Given the description of an element on the screen output the (x, y) to click on. 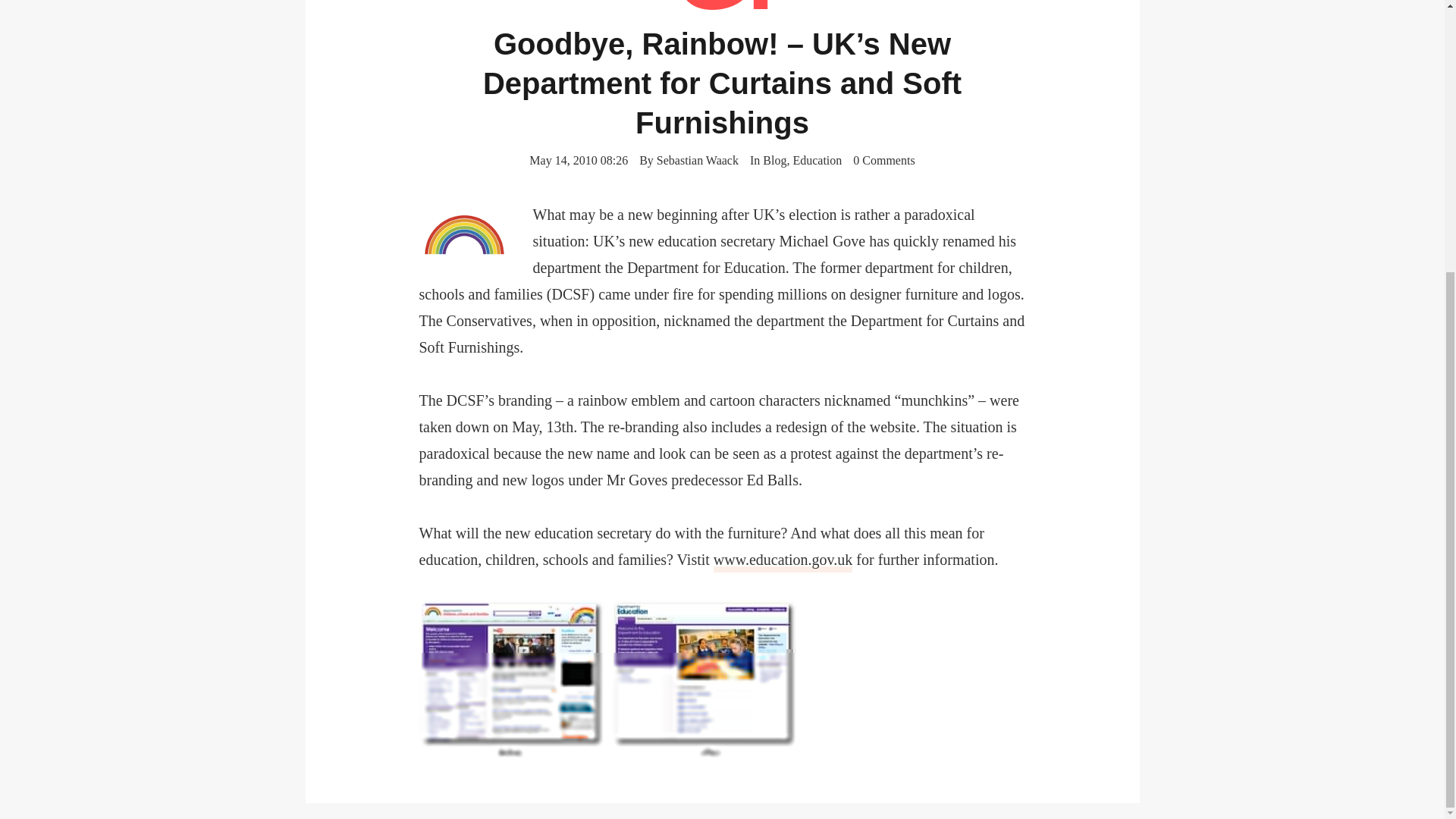
www.education.gov.uk (782, 560)
0 Comments (883, 159)
May 14, 2010 08:26 (578, 159)
Sebastian Waack (697, 160)
Education (816, 160)
dcsf-old-logo (464, 234)
Blog (774, 160)
dcsf-dfe-web (607, 678)
